Given the description of an element on the screen output the (x, y) to click on. 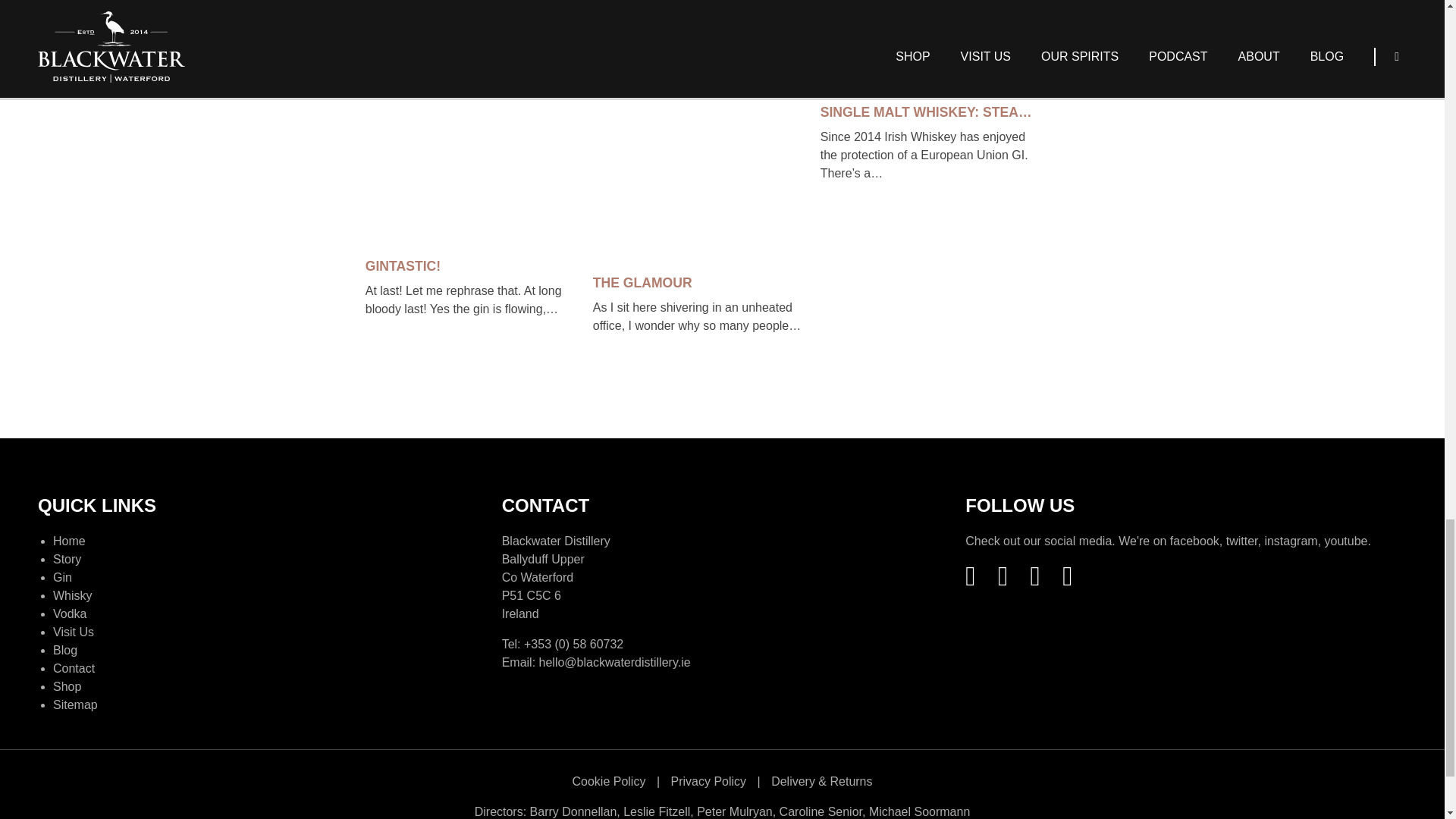
Story (66, 558)
Contact (73, 667)
Blog (64, 649)
Home (68, 540)
Whisky (72, 594)
Vodka (68, 612)
Visit Us (73, 631)
Gin (61, 576)
